Given the description of an element on the screen output the (x, y) to click on. 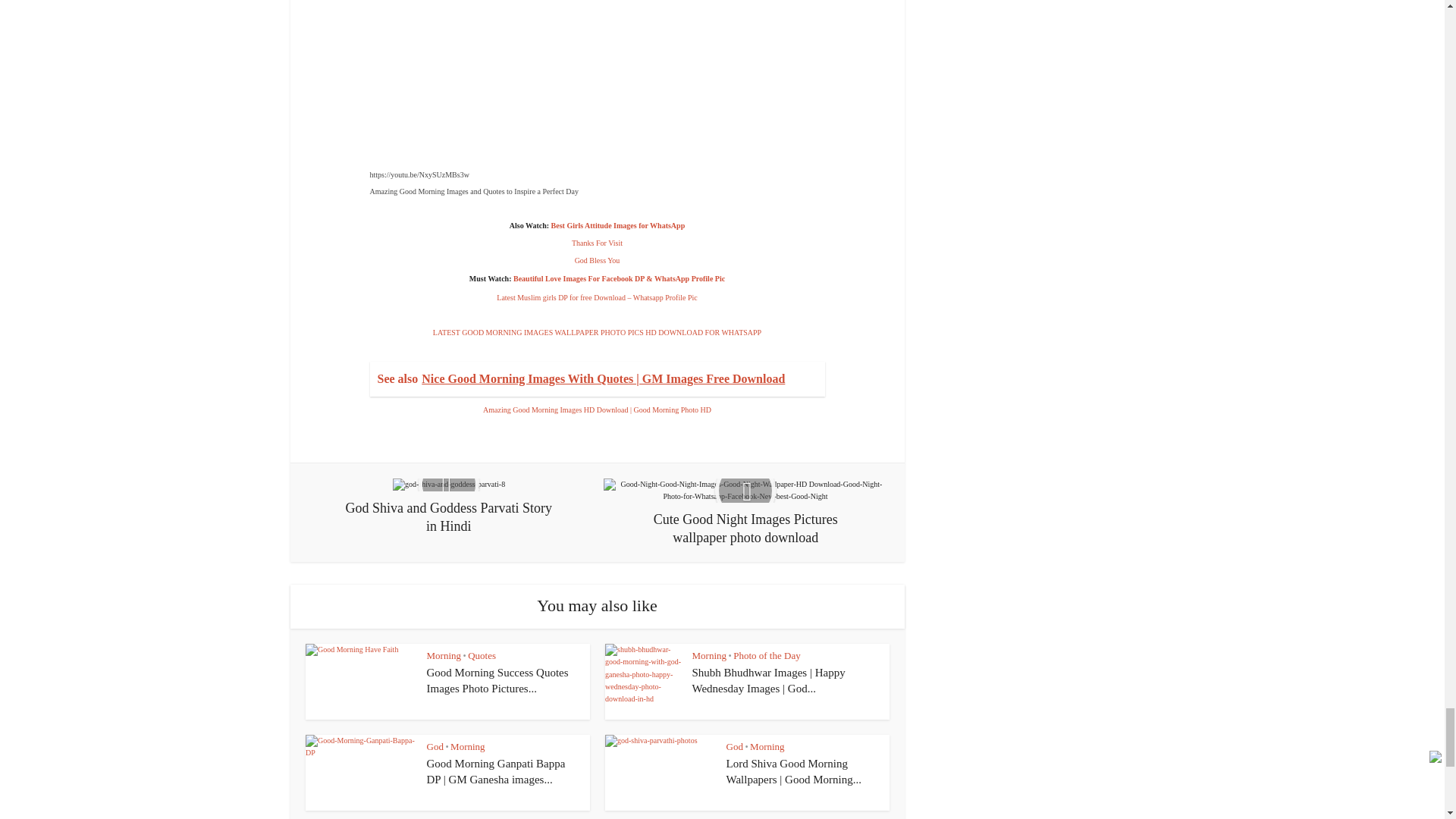
Good Morning Success Quotes Images Photo Pictures Download (496, 679)
